Given the description of an element on the screen output the (x, y) to click on. 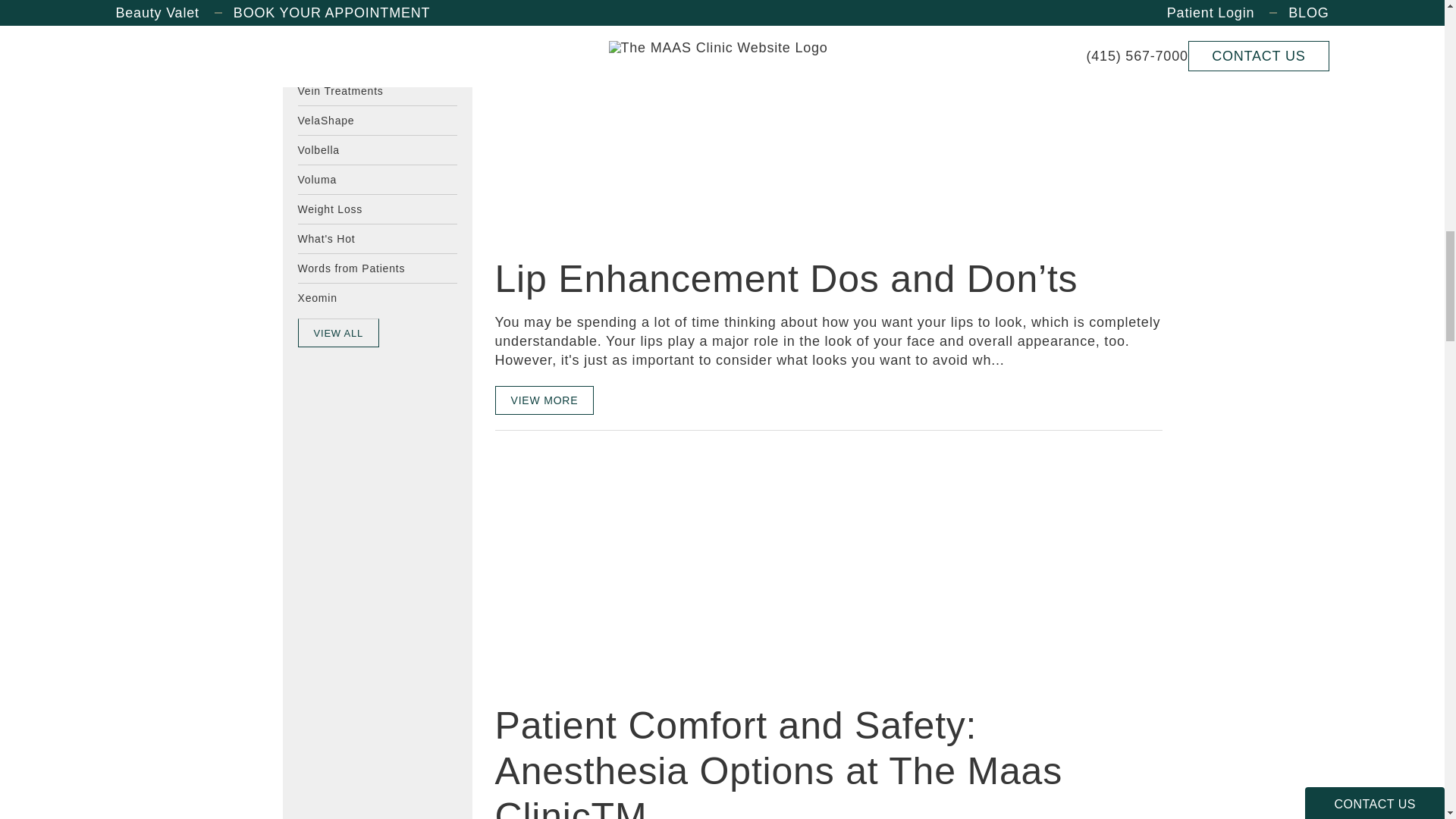
View blog article (608, 565)
View blog article (608, 120)
View full blog article (544, 399)
